Given the description of an element on the screen output the (x, y) to click on. 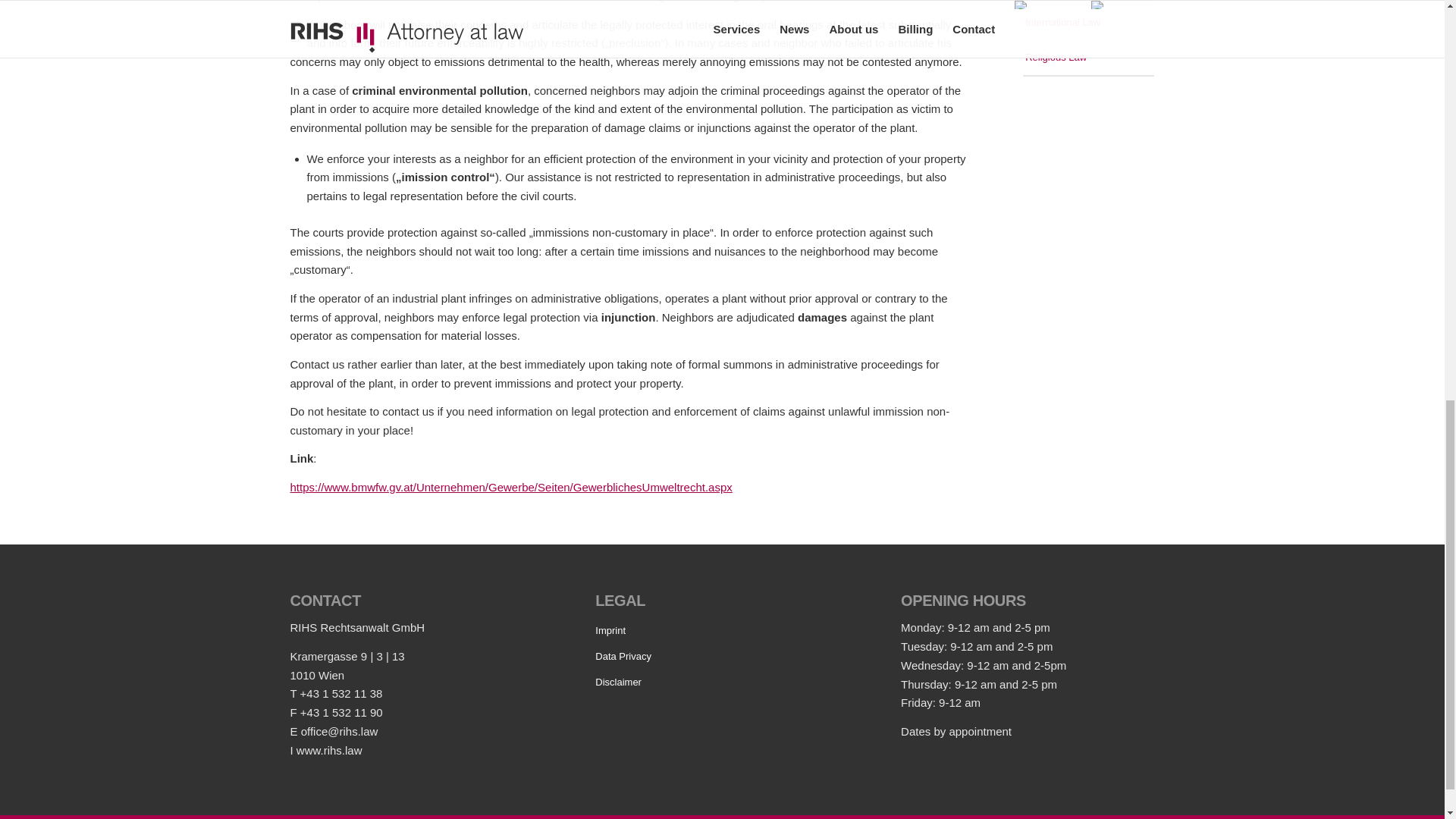
Educational Law (1088, 2)
Imprint (721, 631)
Religious Law (1088, 58)
Disclaimer (721, 683)
International Law (1088, 22)
Data Privacy (721, 657)
